Given the description of an element on the screen output the (x, y) to click on. 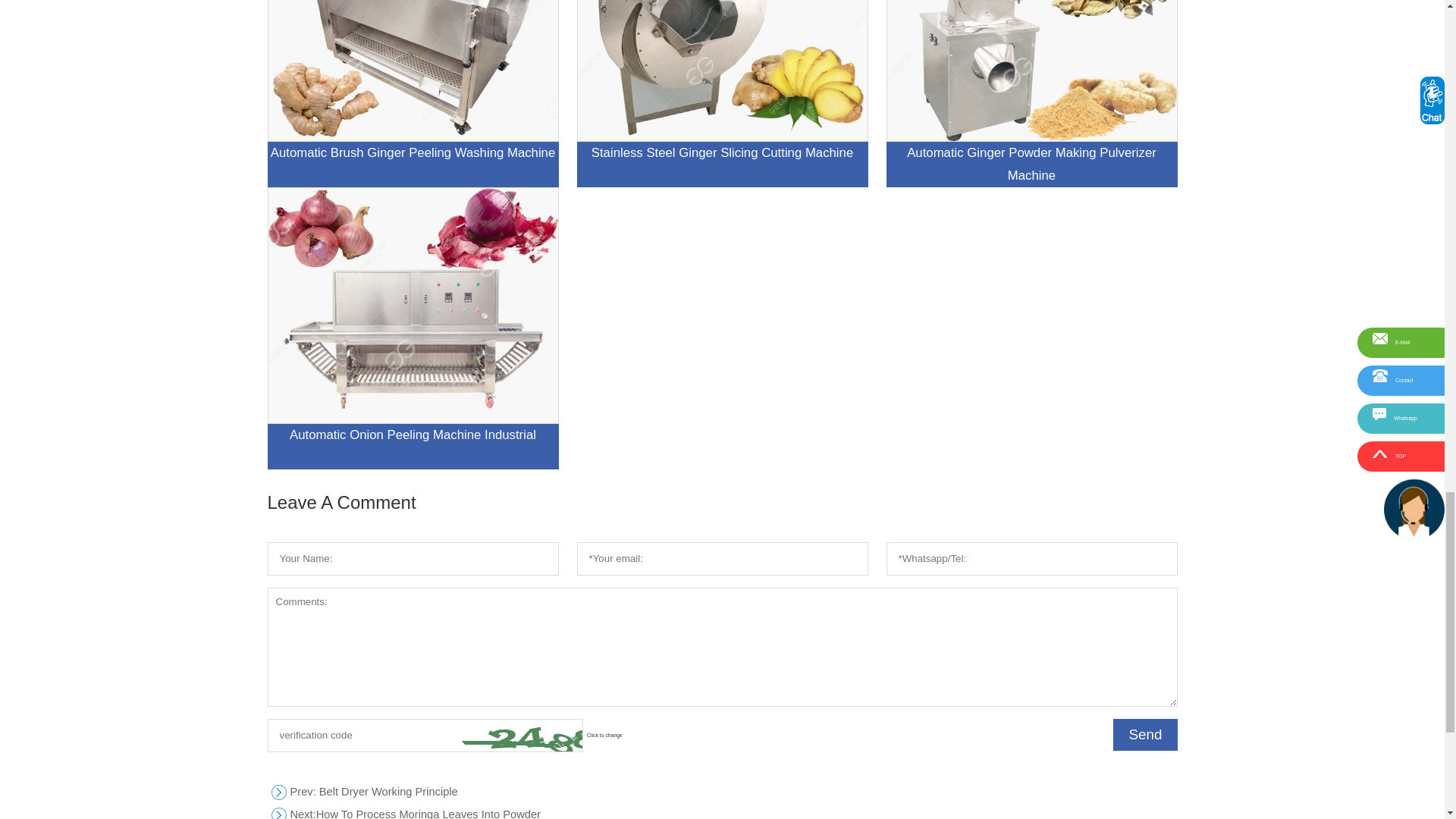
Automatic Brush Ginger Peeling Washing Machine (411, 93)
Send (1144, 735)
Automatic Onion Peeling Machine Industrial (721, 811)
Automatic Ginger Powder Making Pulverizer Machine (411, 327)
Stainless Steel Ginger Slicing Cutting Machine (1030, 93)
